Given the description of an element on the screen output the (x, y) to click on. 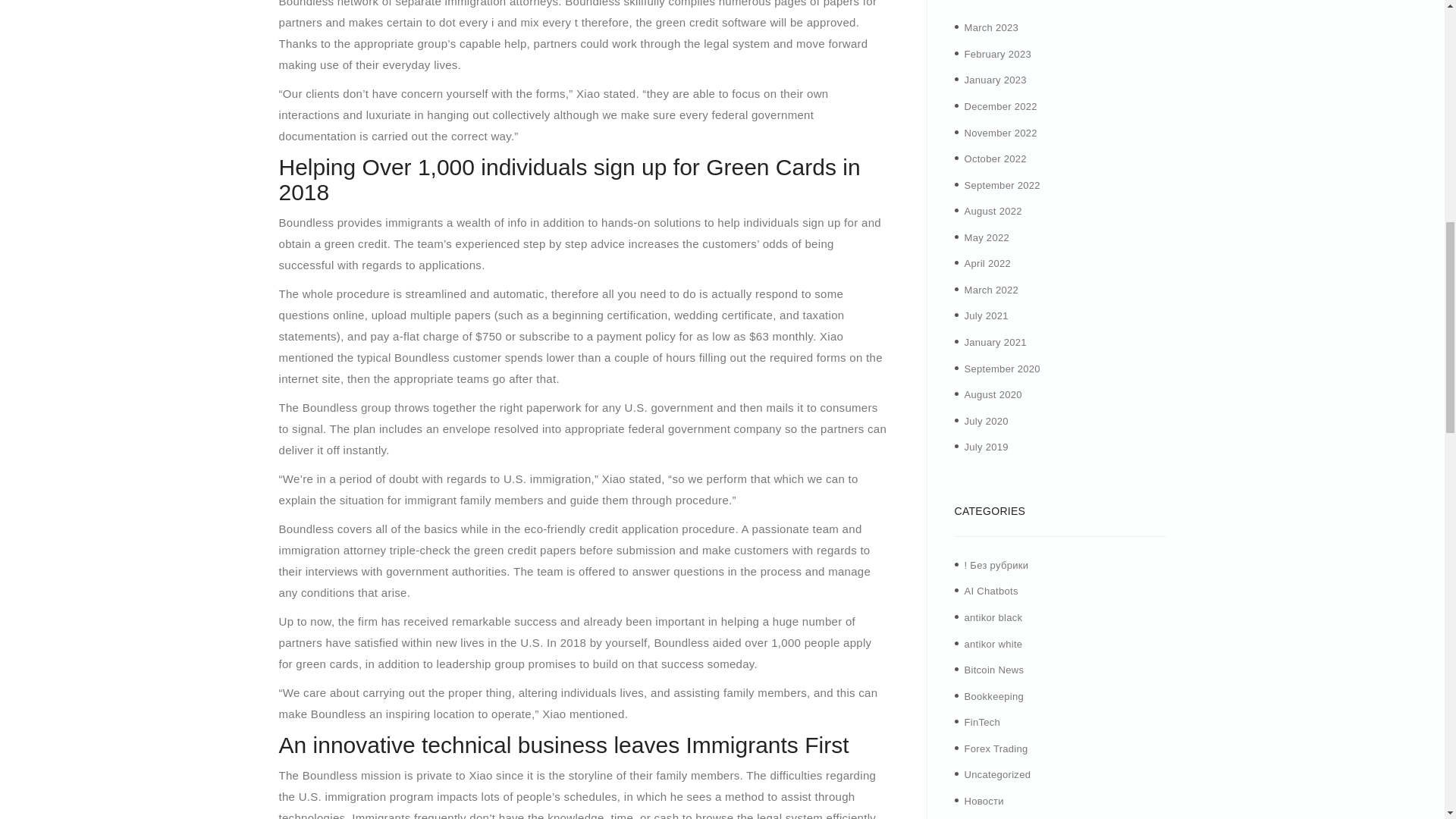
October 2022 (994, 158)
January 2021 (994, 342)
July 2020 (986, 420)
March 2023 (991, 27)
December 2022 (999, 106)
November 2022 (999, 132)
April 2022 (987, 263)
September 2020 (1002, 368)
January 2023 (994, 79)
February 2023 (996, 53)
August 2020 (992, 394)
September 2022 (1002, 184)
August 2022 (992, 211)
July 2019 (986, 446)
March 2022 (991, 289)
